Given the description of an element on the screen output the (x, y) to click on. 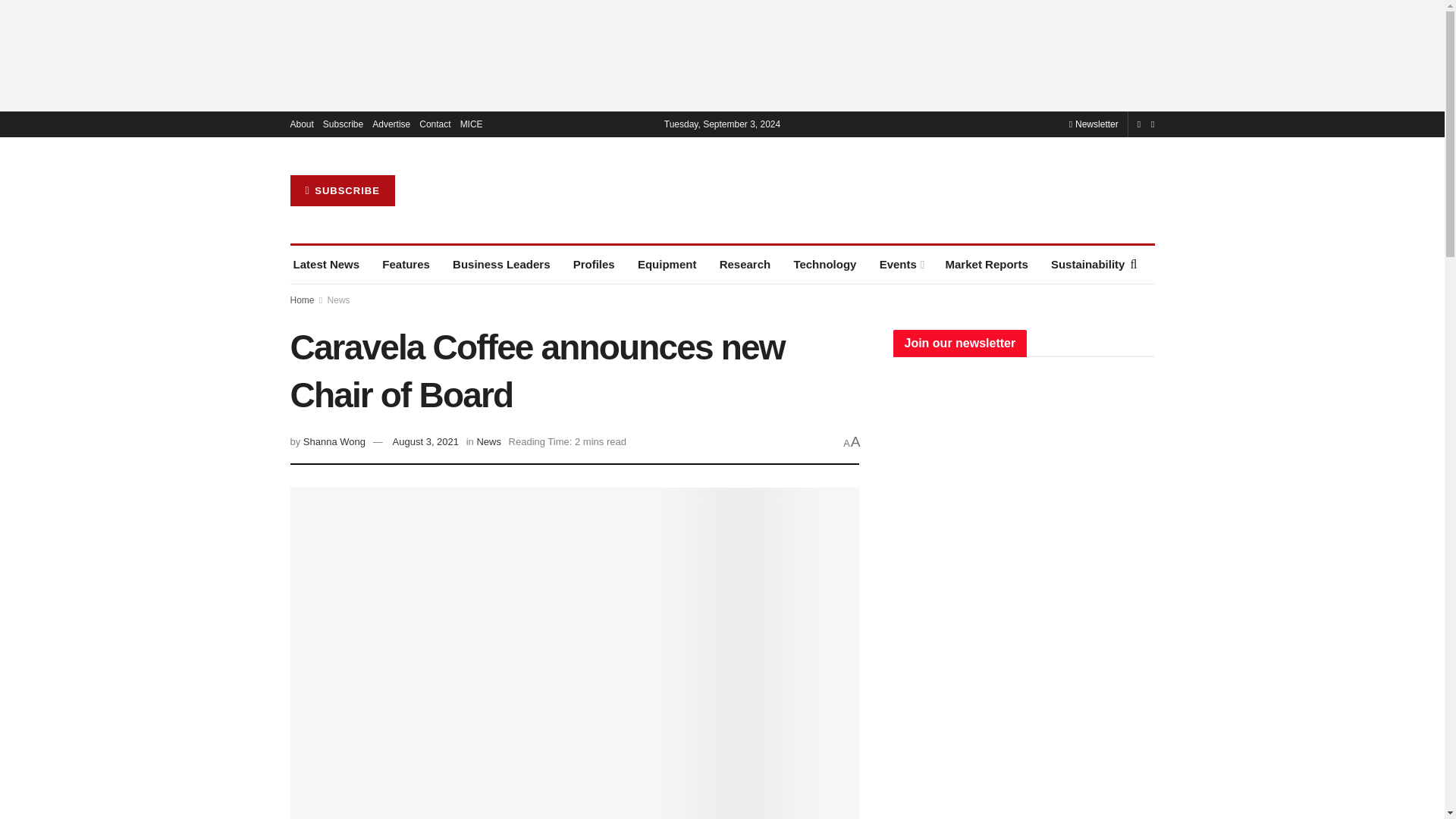
Market Reports (986, 264)
Profiles (593, 264)
Sustainability (1088, 264)
Newsletter (1093, 123)
SUBSCRIBE (341, 190)
Technology (824, 264)
Subscribe (342, 124)
Events (901, 264)
Features (405, 264)
Business Leaders (501, 264)
